Given the description of an element on the screen output the (x, y) to click on. 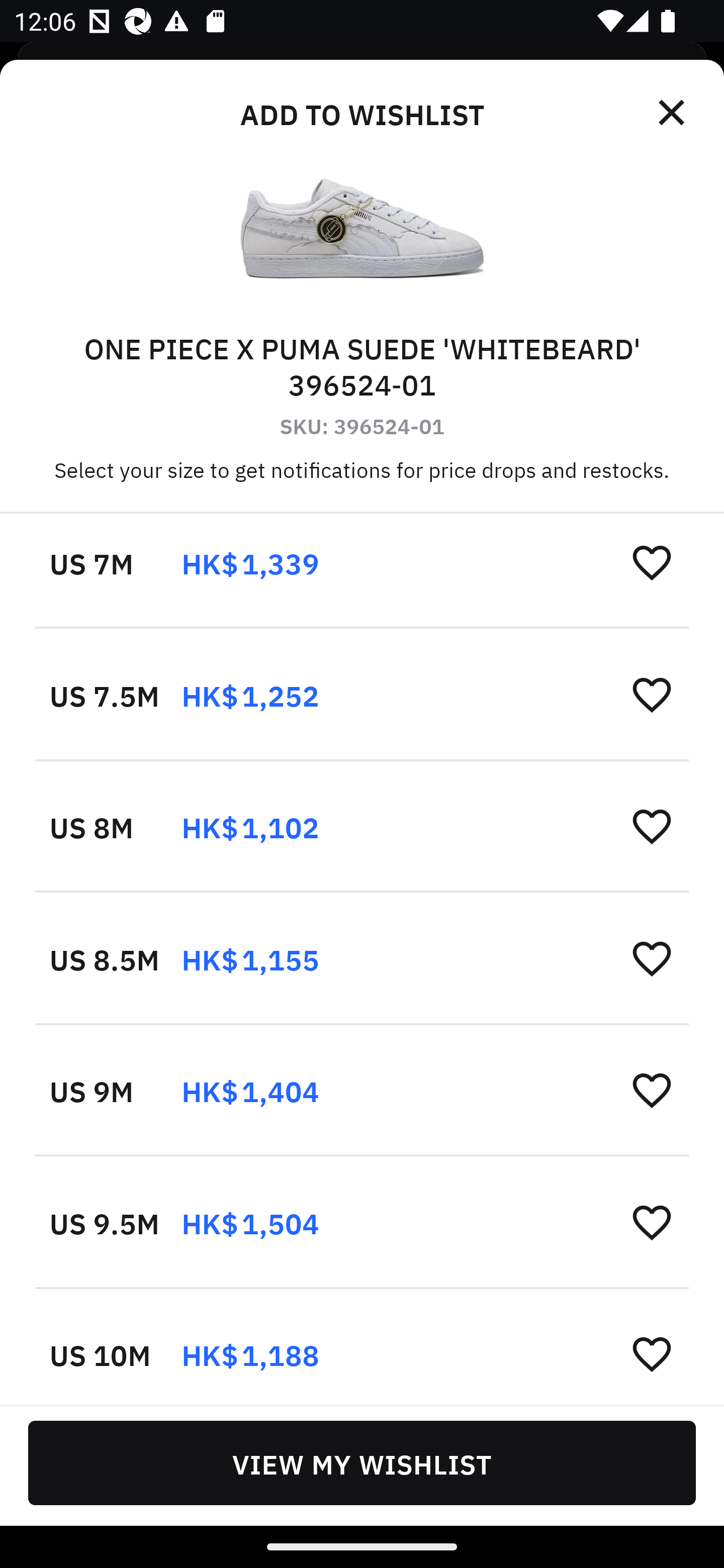
 (672, 112)
󰋕 (651, 561)
󰋕 (651, 693)
󰋕 (651, 825)
󰋕 (651, 957)
󰋕 (651, 1089)
󰋕 (651, 1221)
󰋕 (651, 1353)
VIEW MY WISHLIST (361, 1462)
